Given the description of an element on the screen output the (x, y) to click on. 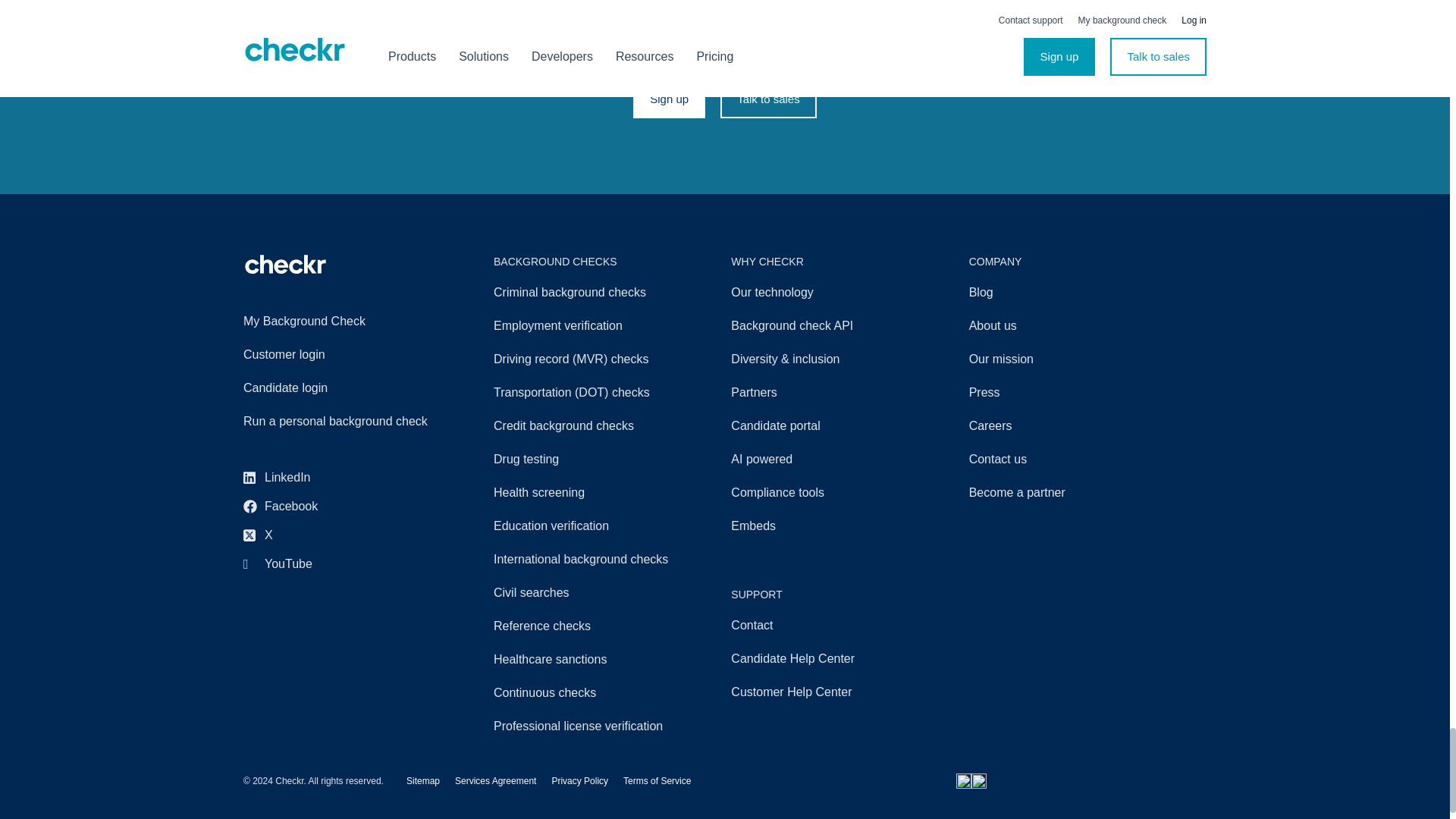
LinkedIn (349, 477)
YouTube (349, 564)
Checkr Home (285, 264)
X (349, 535)
Facebook (349, 506)
